Given the description of an element on the screen output the (x, y) to click on. 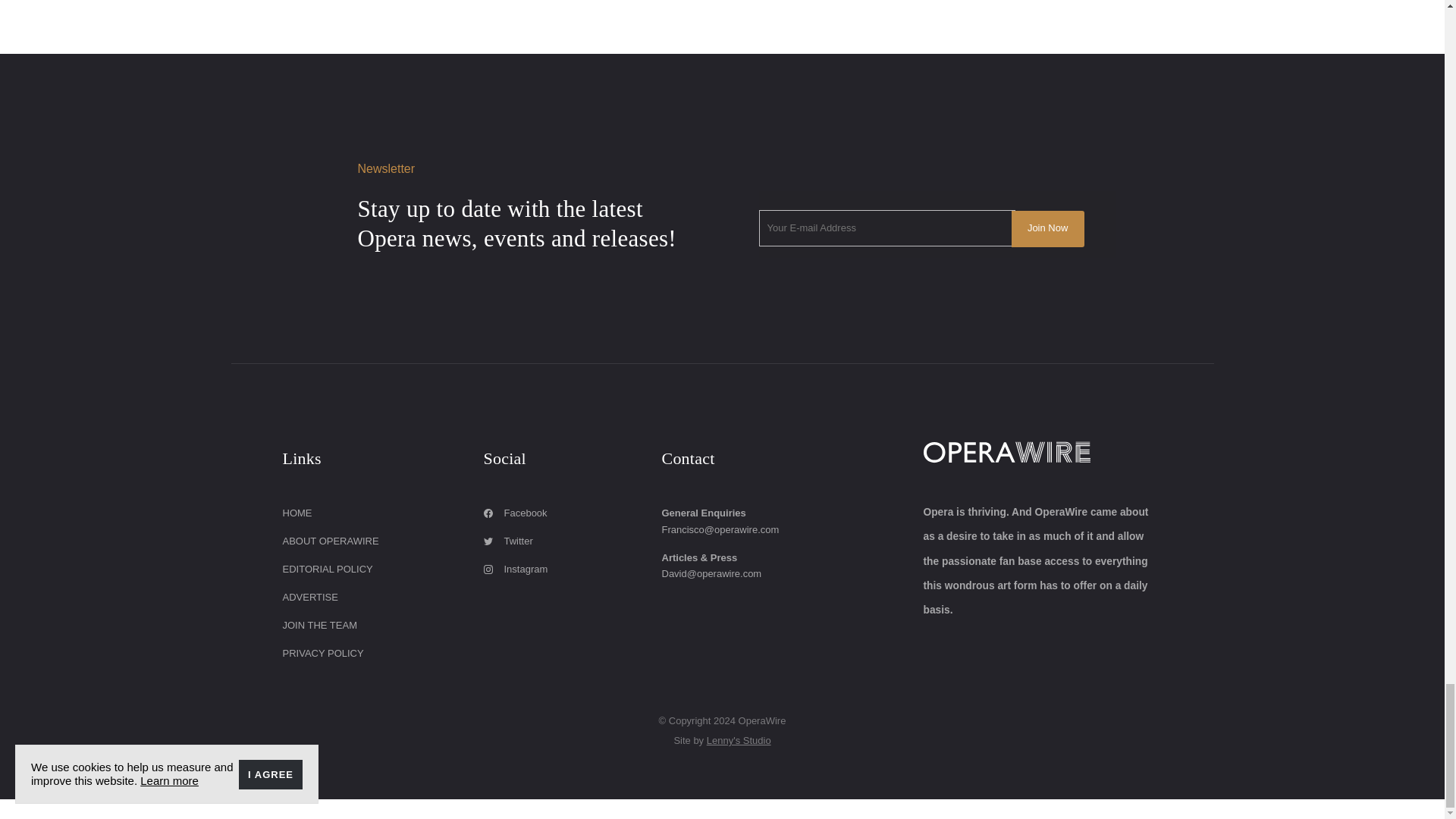
Join Now (1047, 228)
